Given the description of an element on the screen output the (x, y) to click on. 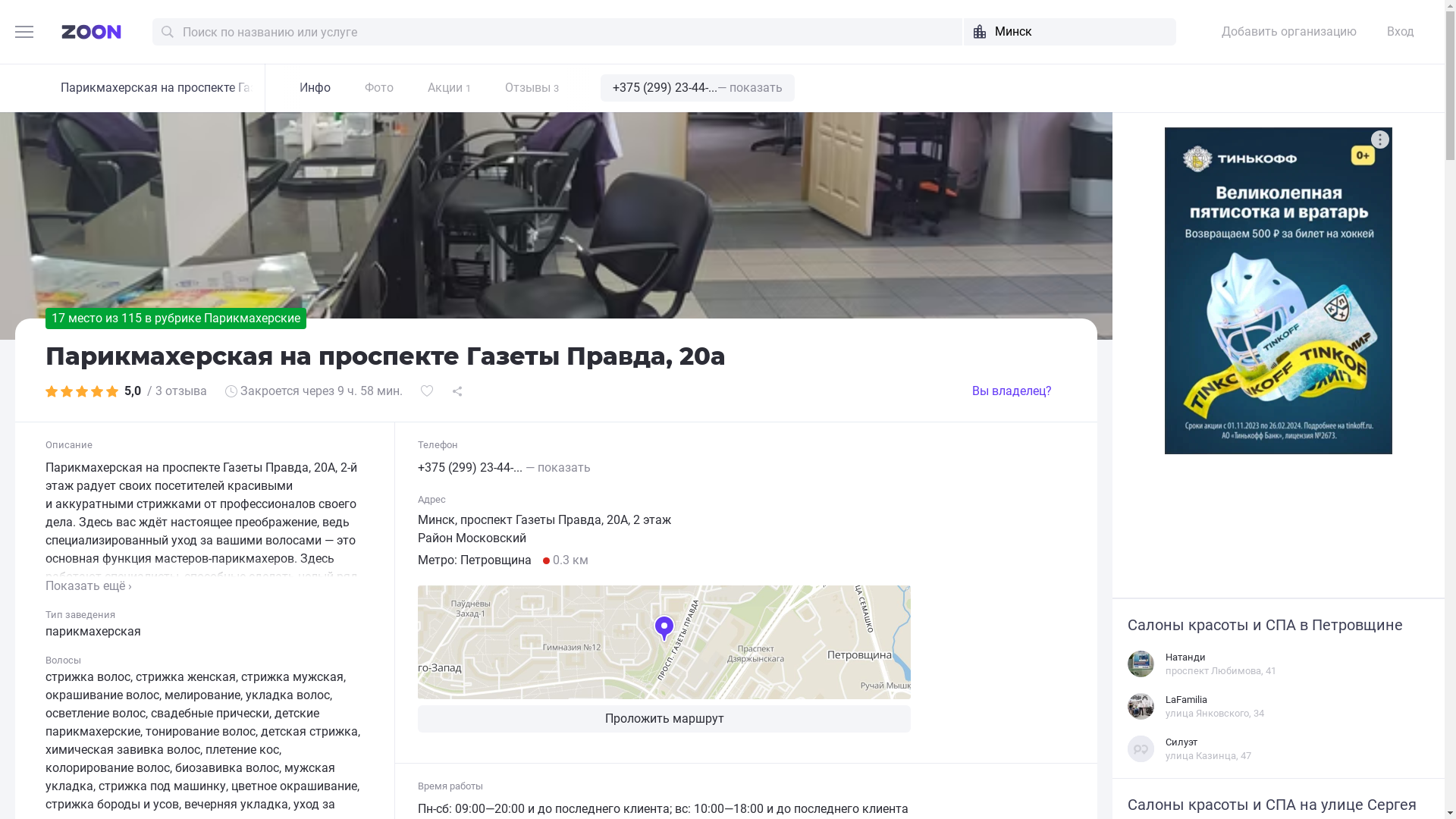
LaFamilia Element type: text (1186, 699)
